Given the description of an element on the screen output the (x, y) to click on. 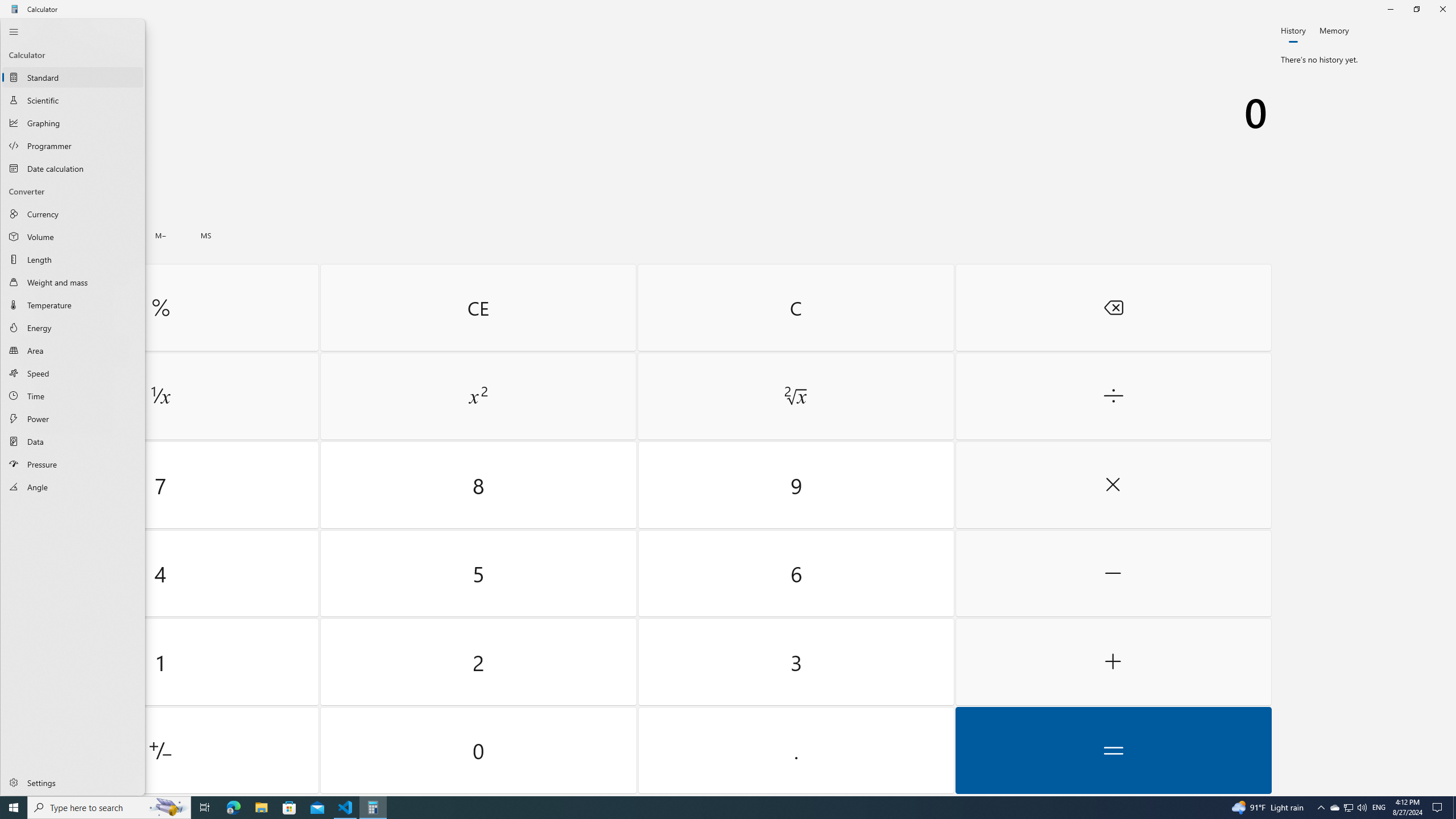
Percent (160, 307)
